Given the description of an element on the screen output the (x, y) to click on. 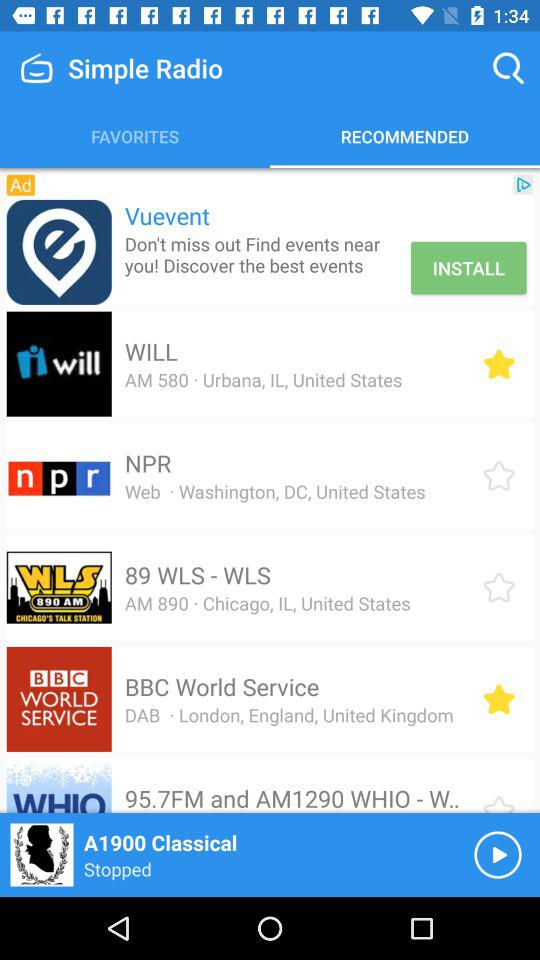
launch item next to the don t miss item (468, 267)
